Given the description of an element on the screen output the (x, y) to click on. 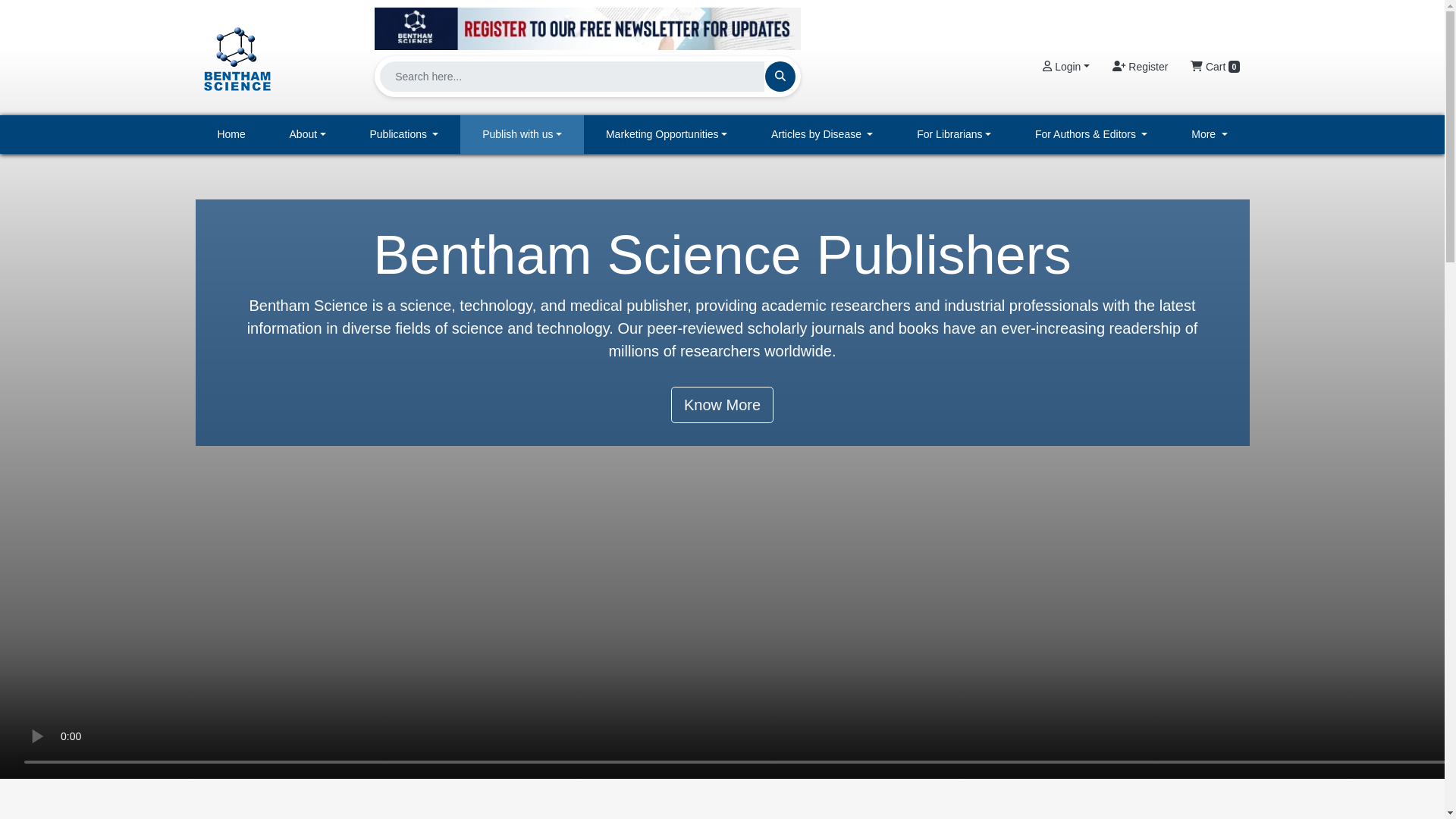
newsletter banner (587, 24)
Publications (404, 134)
Register (1139, 67)
newsletter banner (587, 28)
Cart 0 (1214, 67)
About (307, 134)
Home (231, 134)
Search Button (779, 76)
Login (1065, 67)
